Given the description of an element on the screen output the (x, y) to click on. 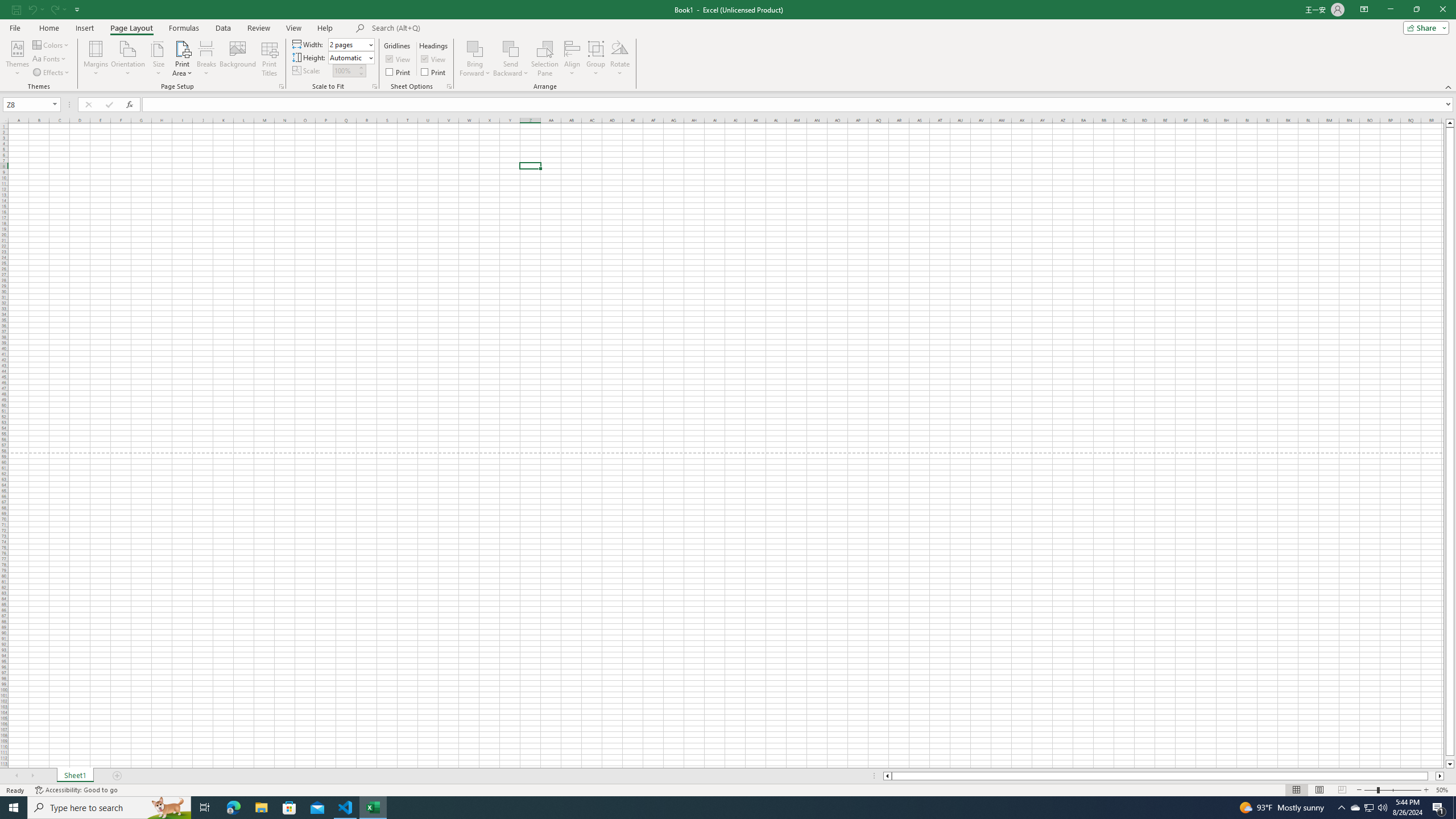
Group (595, 58)
Size (158, 58)
Width (347, 44)
Scale (344, 70)
Page Setup (374, 85)
